Given the description of an element on the screen output the (x, y) to click on. 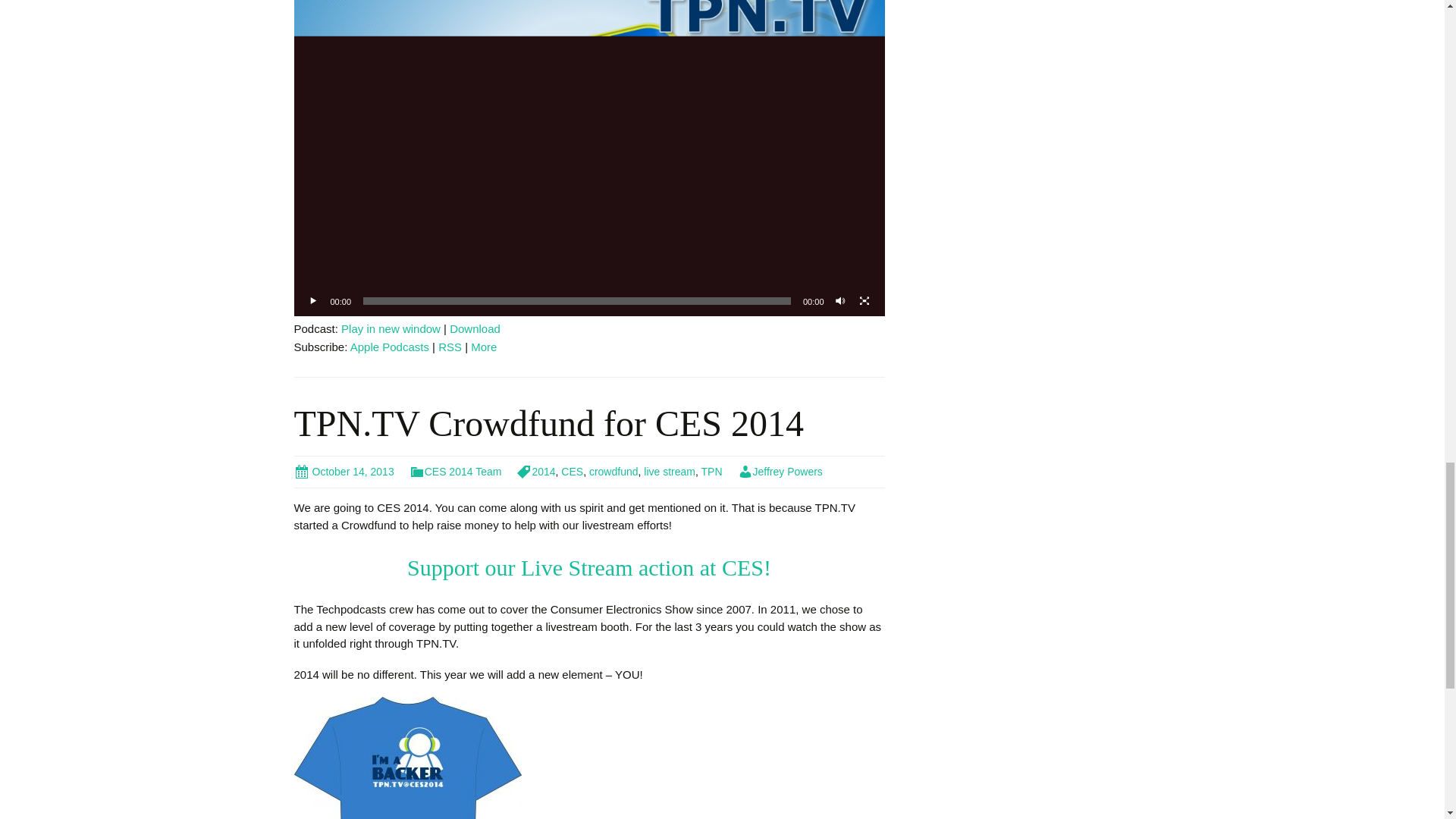
Mute (839, 300)
Fullscreen (864, 300)
Play (313, 300)
Play in new window (390, 328)
